Given the description of an element on the screen output the (x, y) to click on. 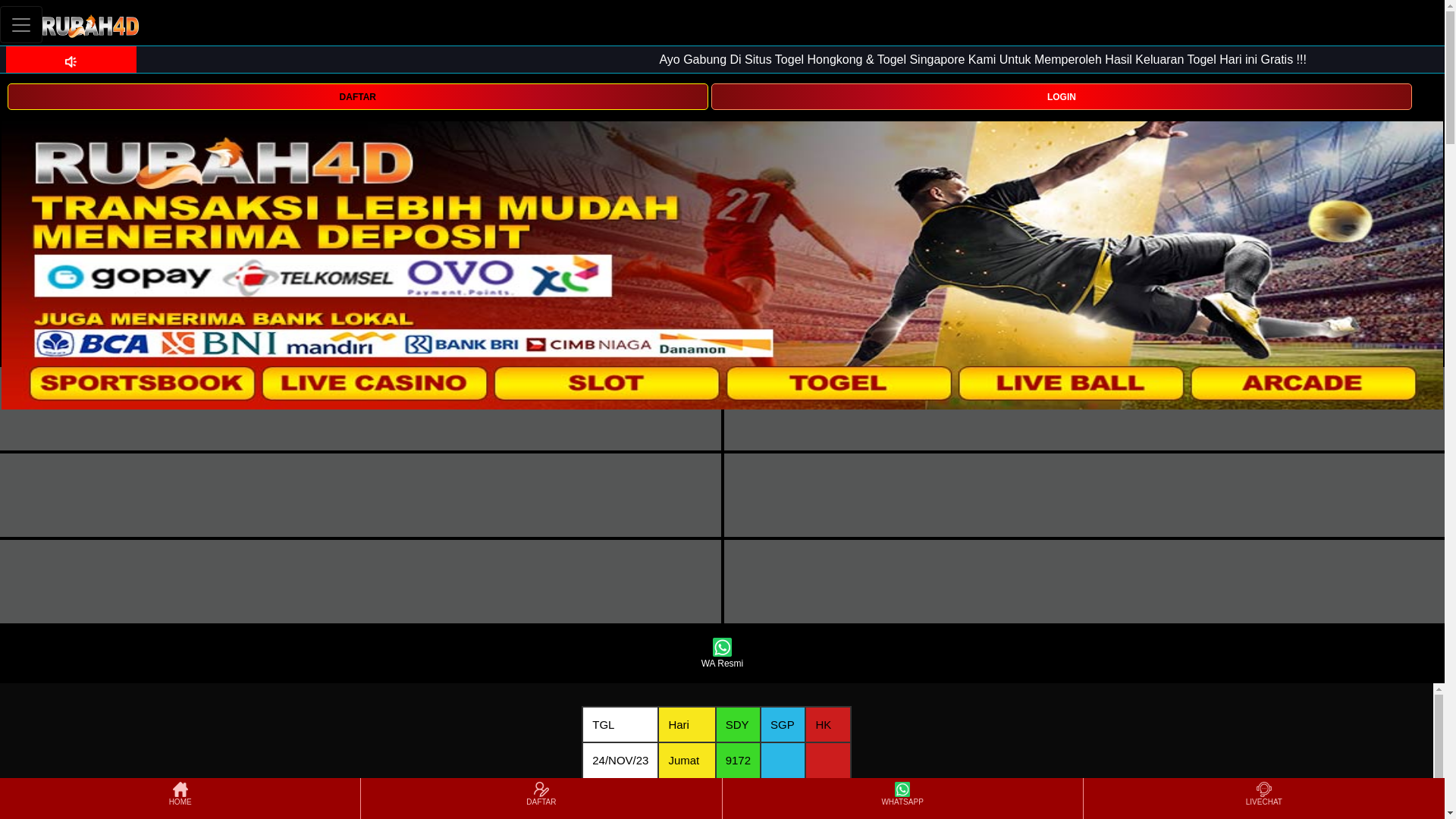
DAFTAR Element type: text (357, 96)
LOGIN Element type: text (1061, 95)
LOGIN Element type: text (1061, 96)
WA Resmi Element type: text (722, 653)
DAFTAR Element type: text (540, 798)
DAFTAR Element type: text (357, 95)
HOME Element type: text (179, 798)
WHATSAPP Element type: text (901, 798)
LIVECHAT Element type: text (1264, 798)
